Given the description of an element on the screen output the (x, y) to click on. 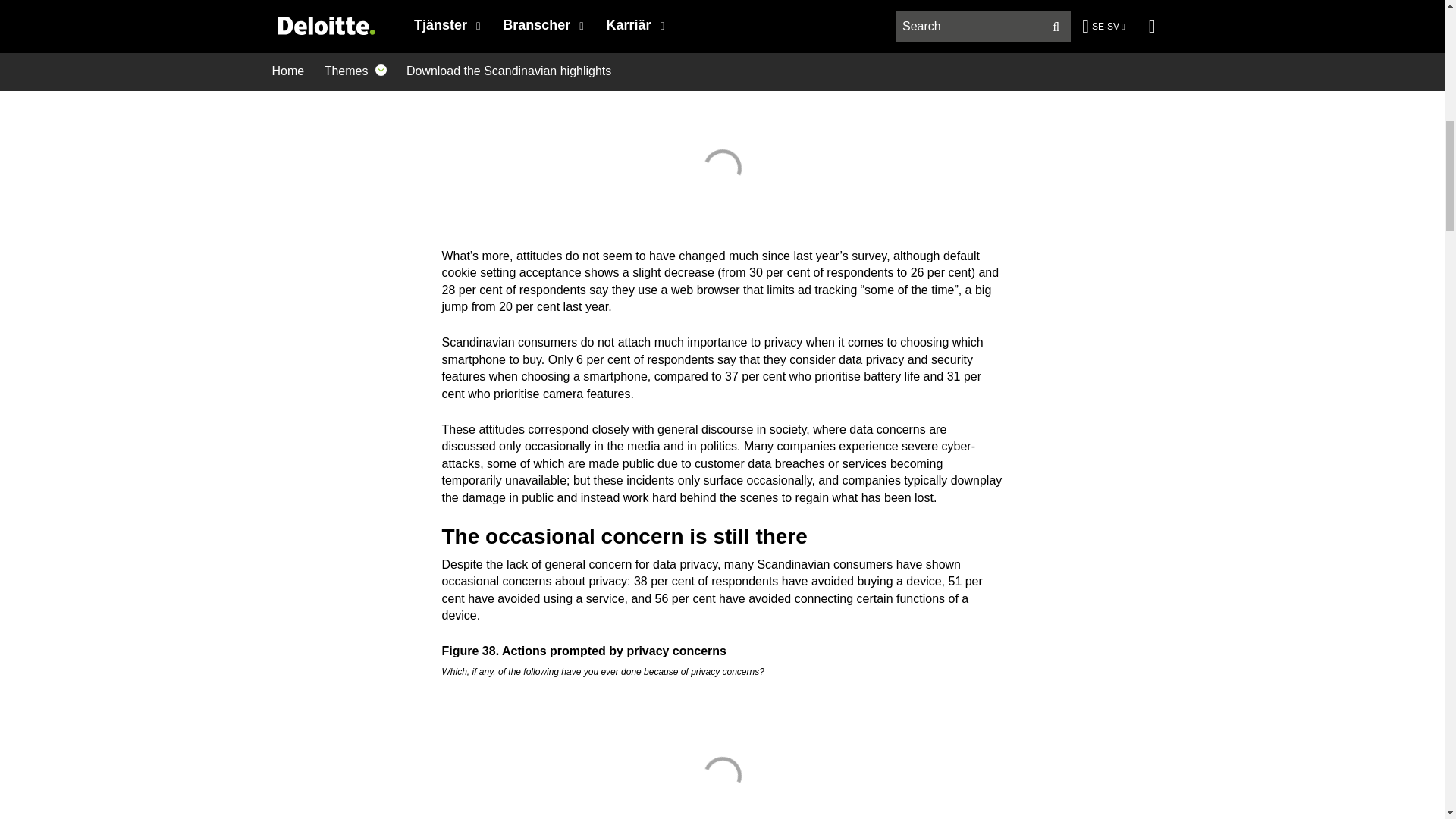
4.38 -  Actions prompted by privacy concerns (722, 772)
4.37 - Online behaviour (722, 167)
